Given the description of an element on the screen output the (x, y) to click on. 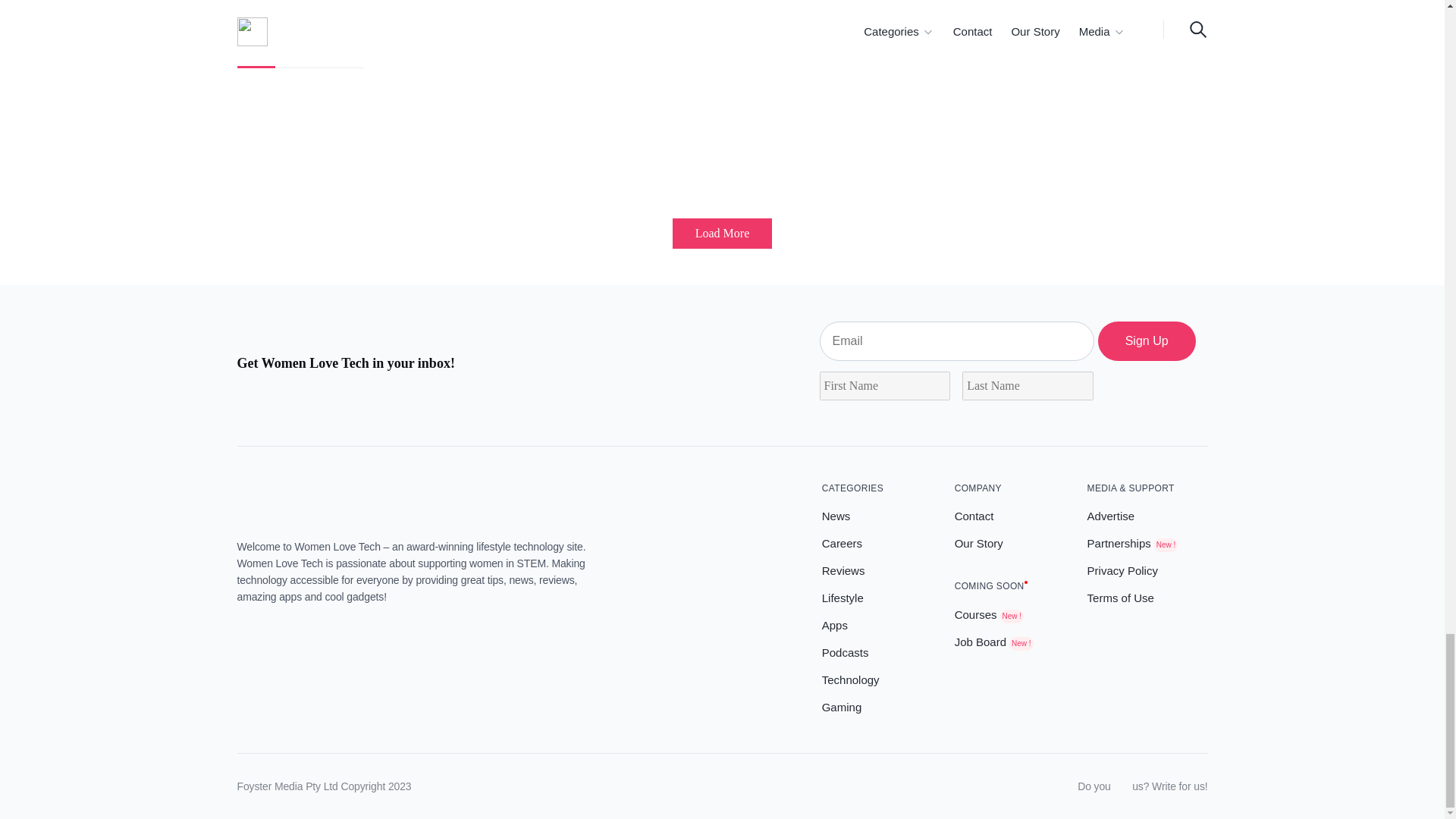
Sign Up (1146, 341)
